Given the description of an element on the screen output the (x, y) to click on. 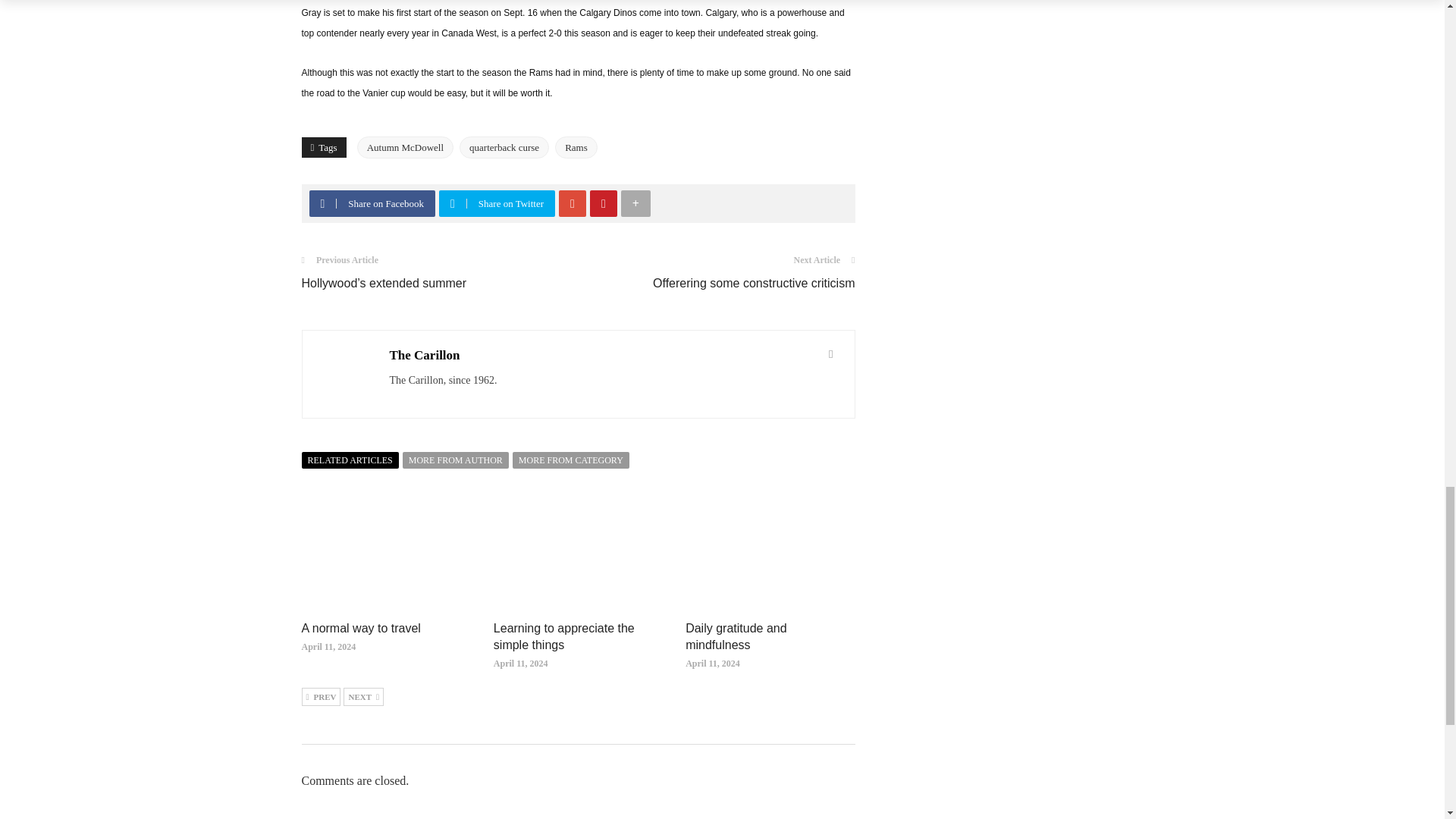
View all posts tagged quarterback curse (504, 147)
View all posts tagged Rams (575, 147)
View all posts tagged Autumn McDowell (404, 147)
